Given the description of an element on the screen output the (x, y) to click on. 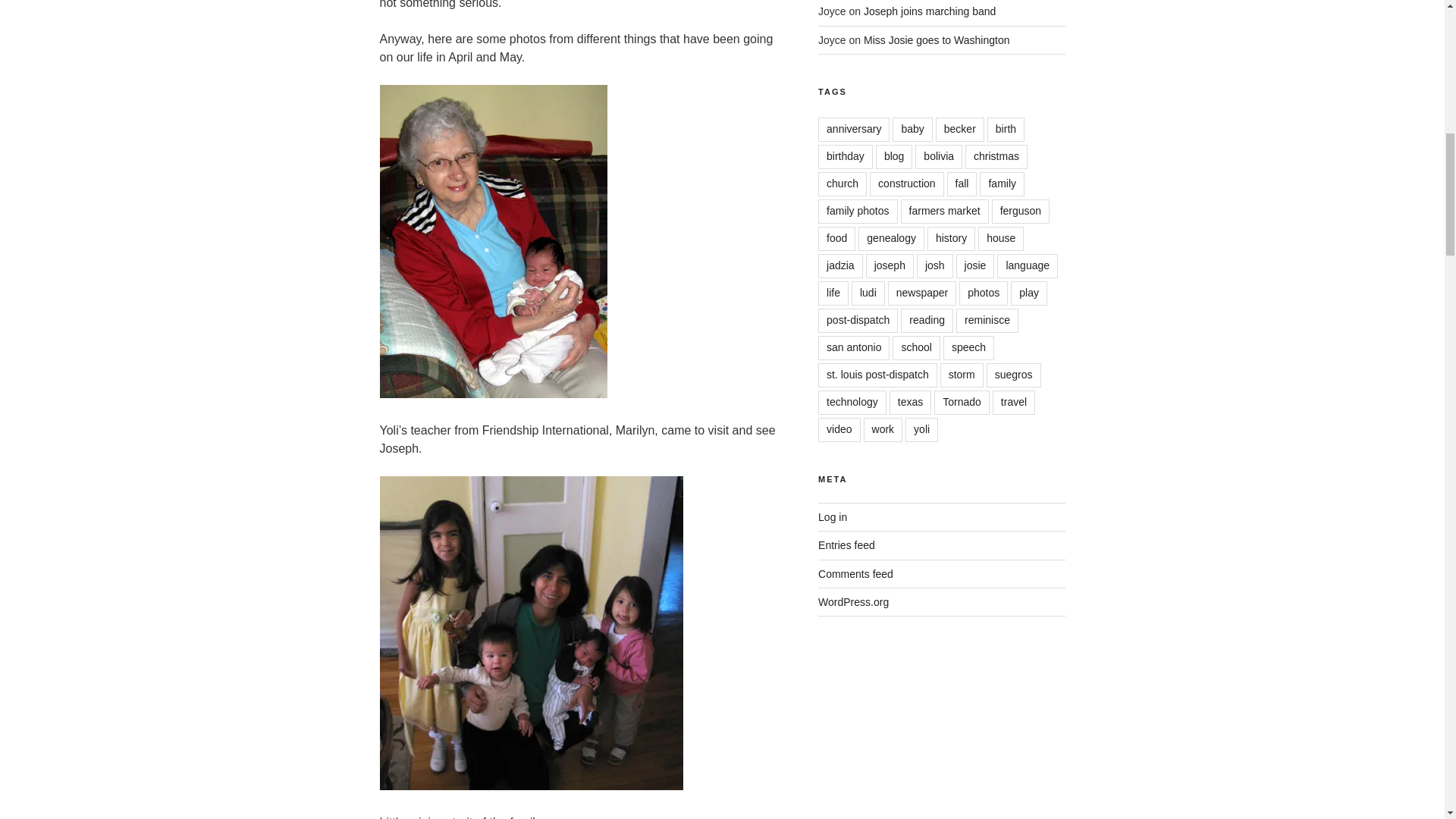
Joseph joins marching band (929, 10)
Miss Josie goes to Washington (936, 39)
anniversary (853, 129)
baby (911, 129)
becker (960, 129)
